Given the description of an element on the screen output the (x, y) to click on. 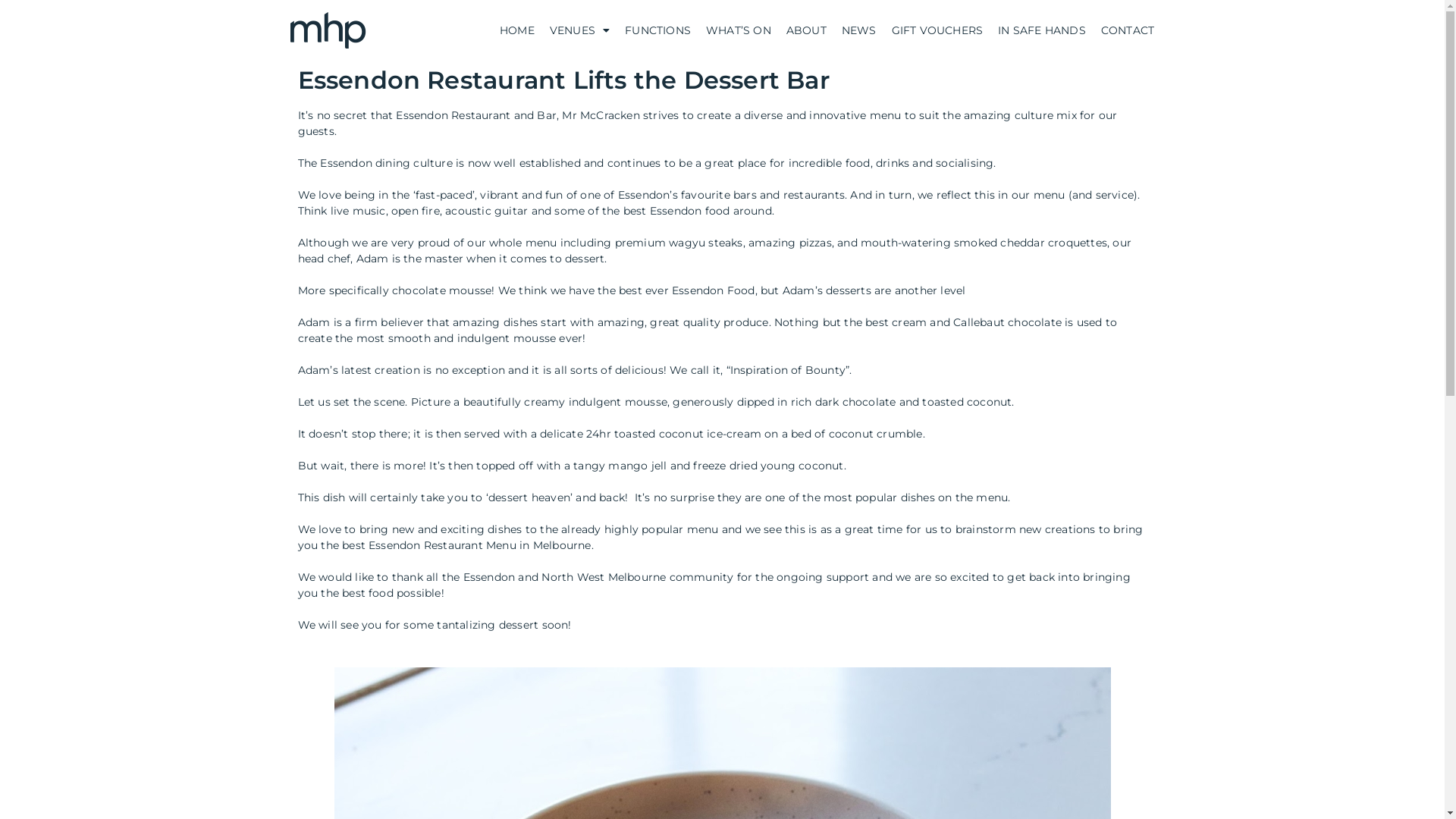
CONTACT Element type: text (1127, 30)
FUNCTIONS Element type: text (657, 30)
GIFT VOUCHERS Element type: text (937, 30)
NEWS Element type: text (858, 30)
IN SAFE HANDS Element type: text (1041, 30)
HOME Element type: text (516, 30)
ABOUT Element type: text (806, 30)
VENUES Element type: text (579, 30)
